Given the description of an element on the screen output the (x, y) to click on. 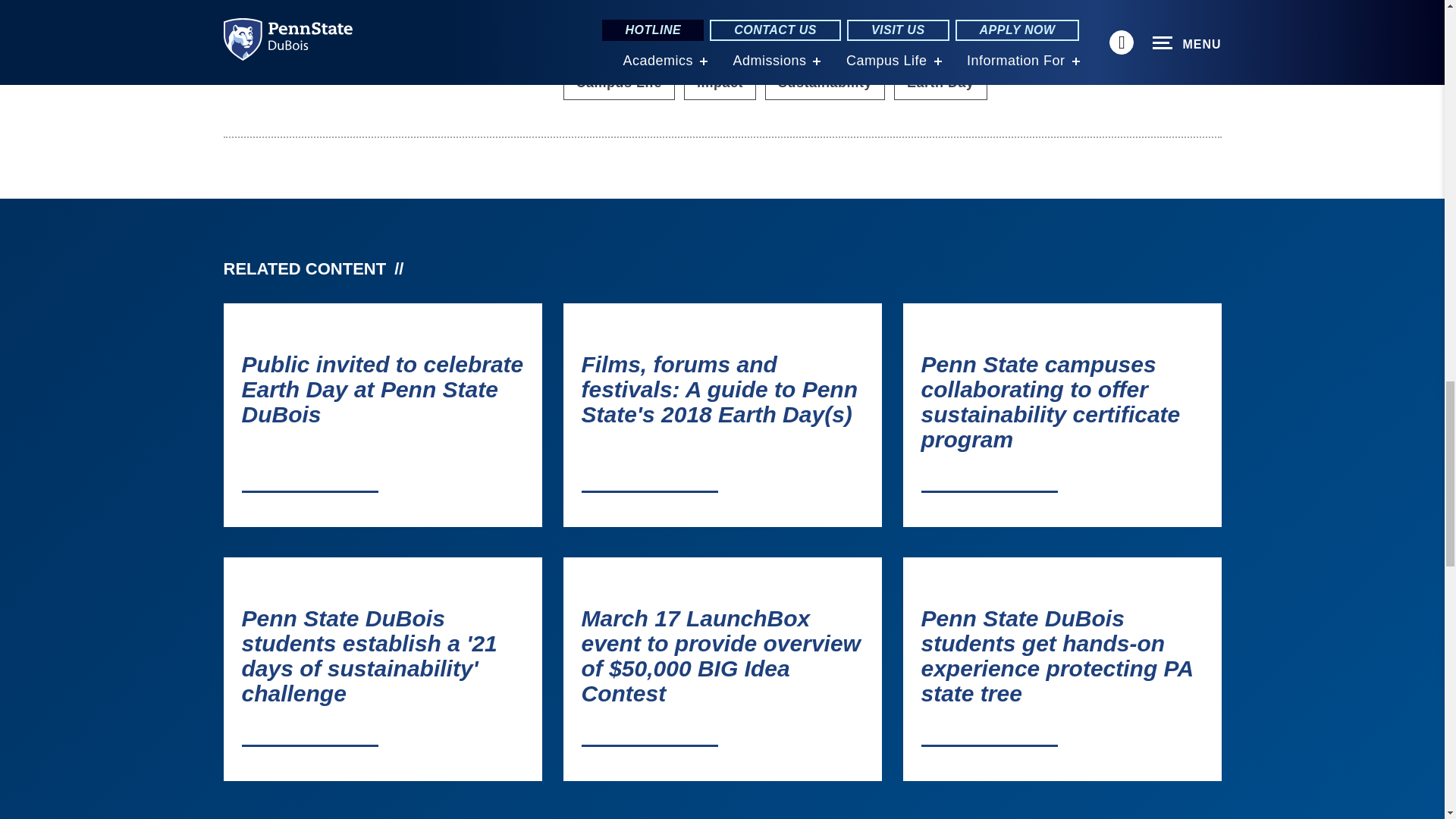
Content tagged with Earth Day (940, 82)
Content tagged with Impact (719, 82)
Content tagged with Sustainability (825, 82)
Content tagged with Campus Life (618, 82)
